Given the description of an element on the screen output the (x, y) to click on. 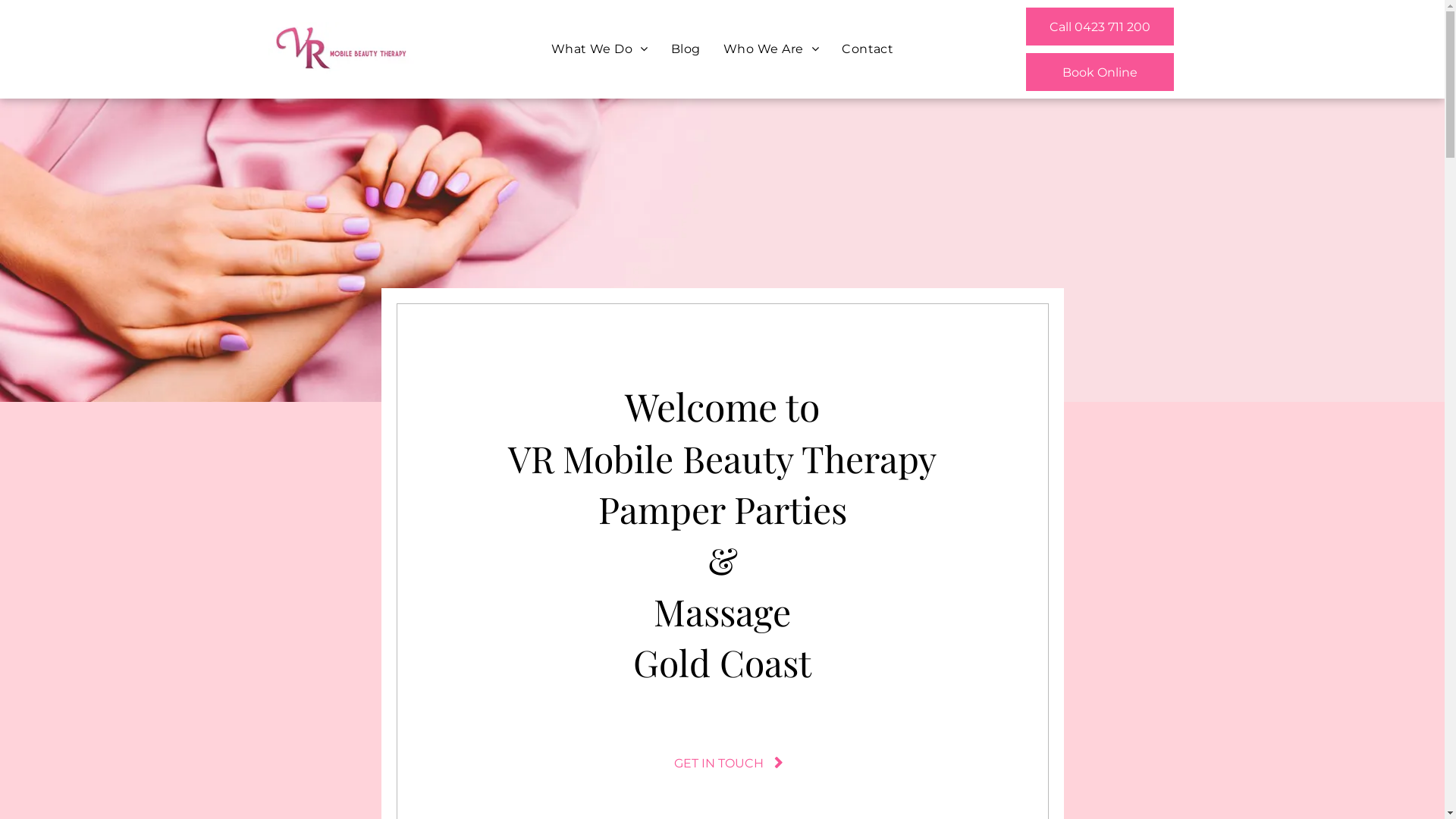
Who We Are Element type: text (771, 49)
GET IN TOUCH Element type: text (721, 763)
Call 0423 711 200 Element type: text (1099, 26)
Contact Element type: text (867, 49)
Blog Element type: text (685, 49)
Book Online Element type: text (1099, 72)
What We Do Element type: text (599, 49)
